Given the description of an element on the screen output the (x, y) to click on. 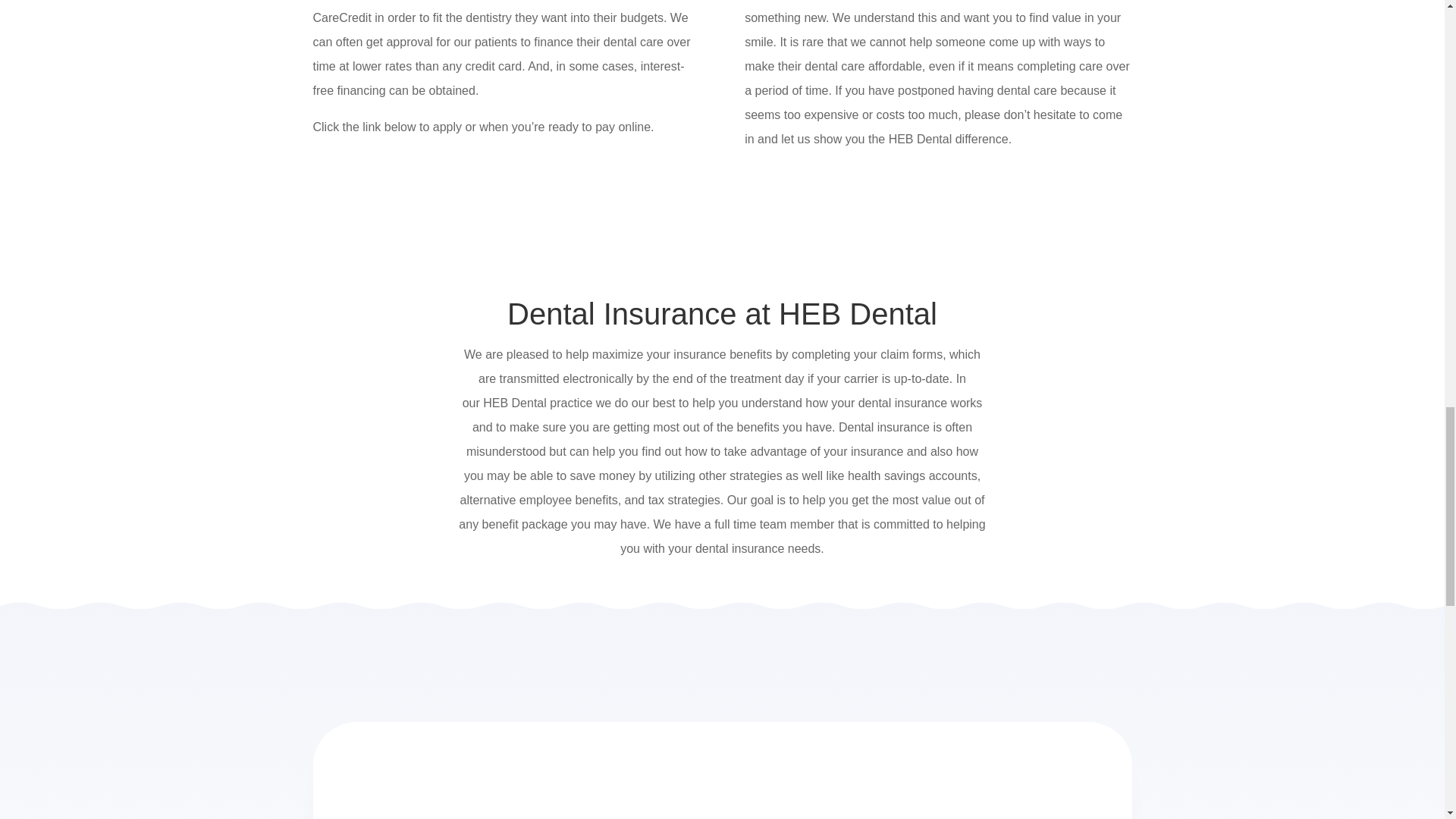
care-credit-apply-now (407, 198)
HEB Dental - Service Cards (561, 785)
